Given the description of an element on the screen output the (x, y) to click on. 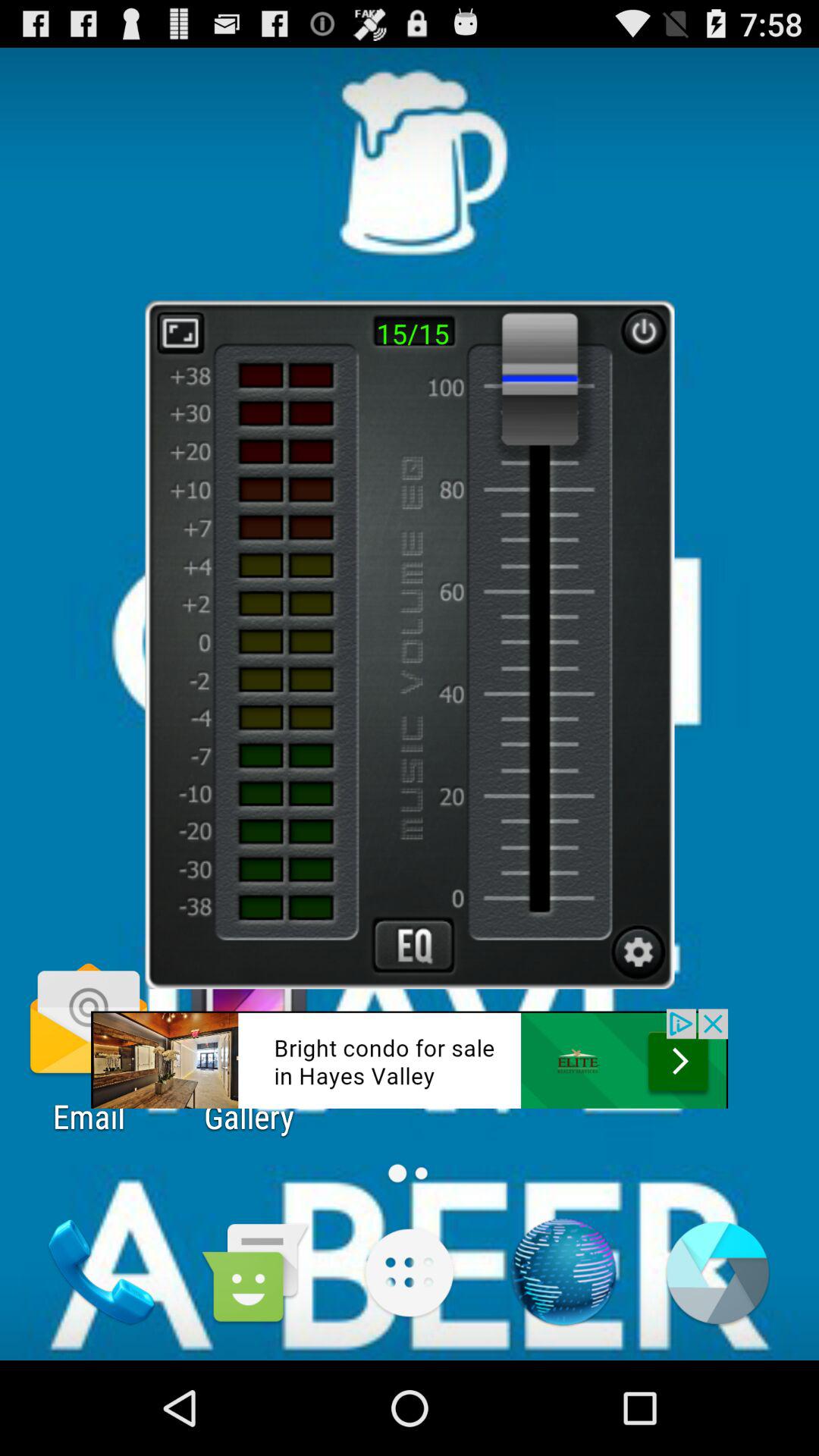
restart button (643, 331)
